Given the description of an element on the screen output the (x, y) to click on. 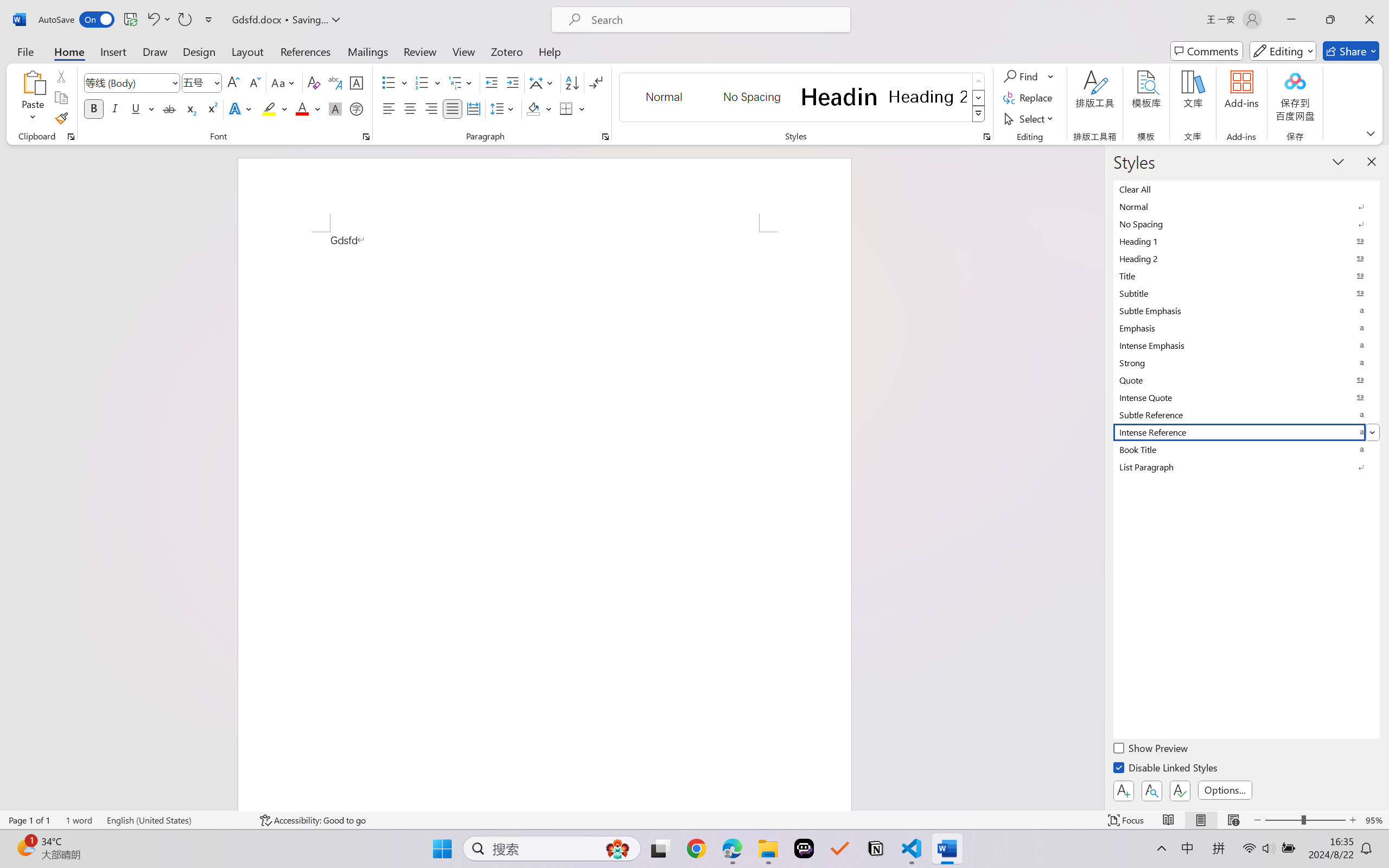
Replace... (1029, 97)
Show/Hide Editing Marks (595, 82)
Asian Layout (542, 82)
No Spacing (1246, 223)
Shading (539, 108)
Row Down (978, 97)
Intense Reference (1246, 431)
Intense Emphasis (1246, 345)
